Given the description of an element on the screen output the (x, y) to click on. 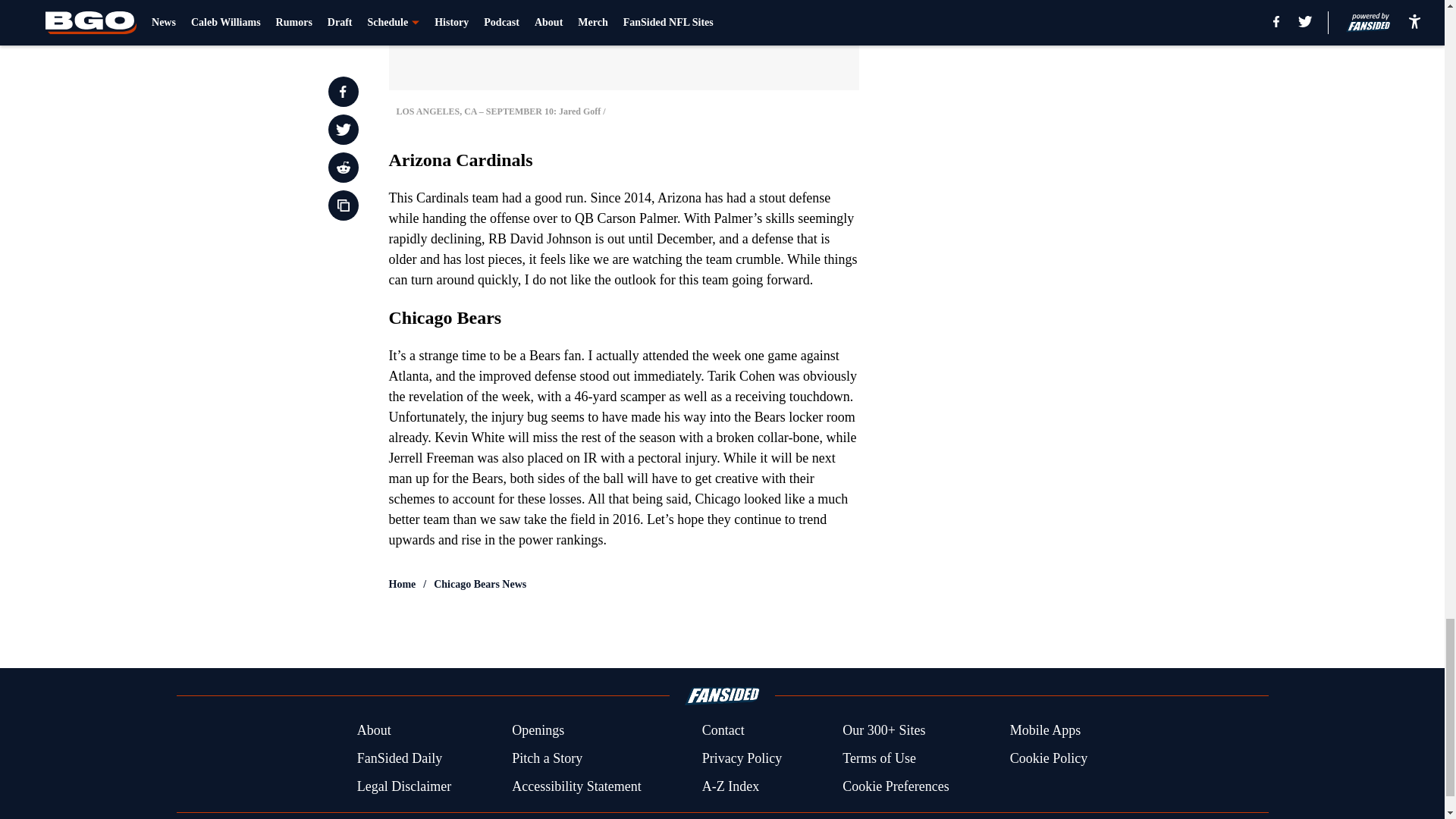
Home (401, 584)
Mobile Apps (1045, 730)
Openings (538, 730)
Pitch a Story (547, 758)
FanSided Daily (399, 758)
Chicago Bears News (479, 584)
Contact (722, 730)
About (373, 730)
